Given the description of an element on the screen output the (x, y) to click on. 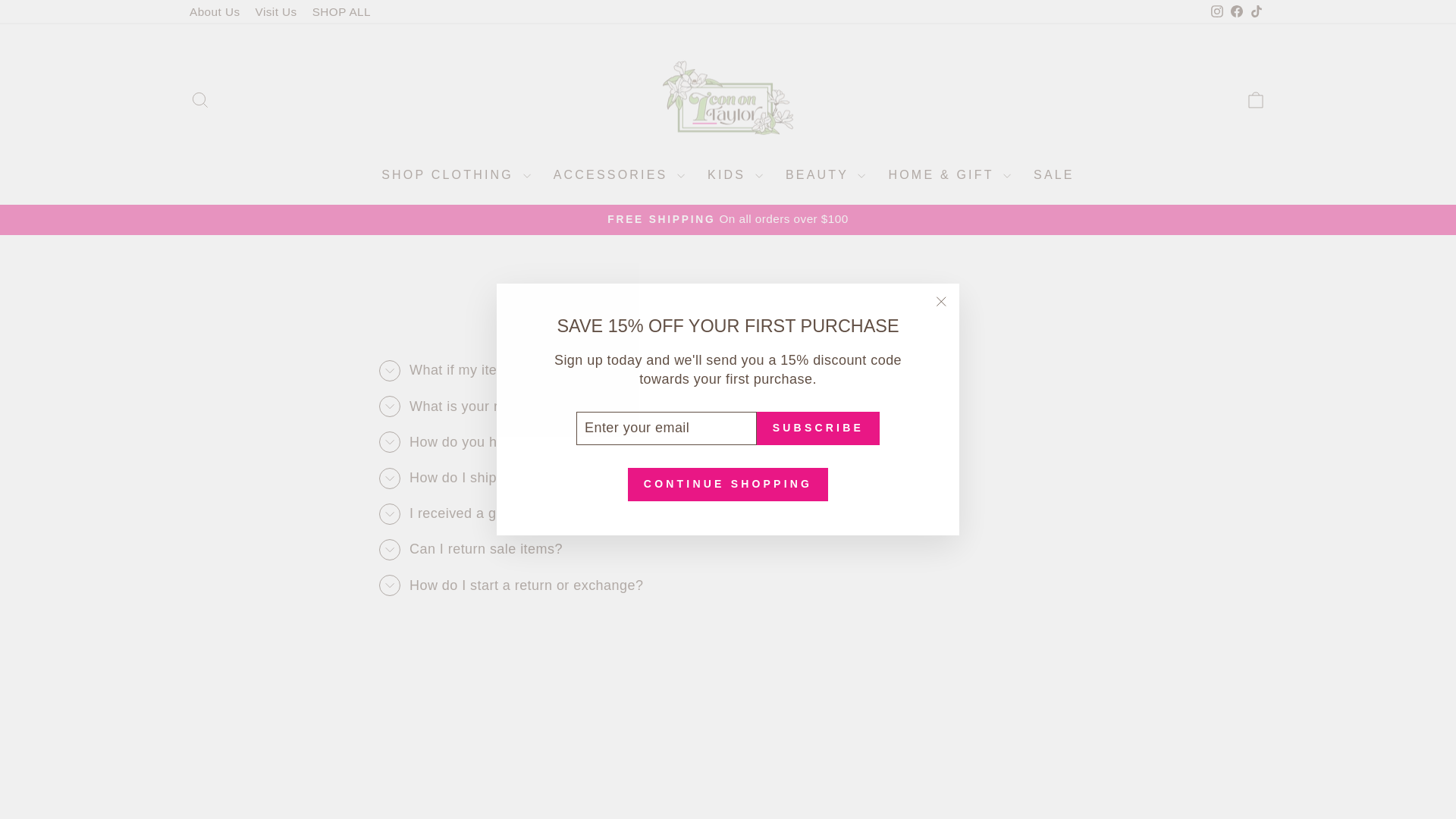
ICON-SEARCH (200, 99)
instagram (1217, 10)
icon-X (941, 301)
ICON-BAG-MINIMAL (1255, 99)
